Given the description of an element on the screen output the (x, y) to click on. 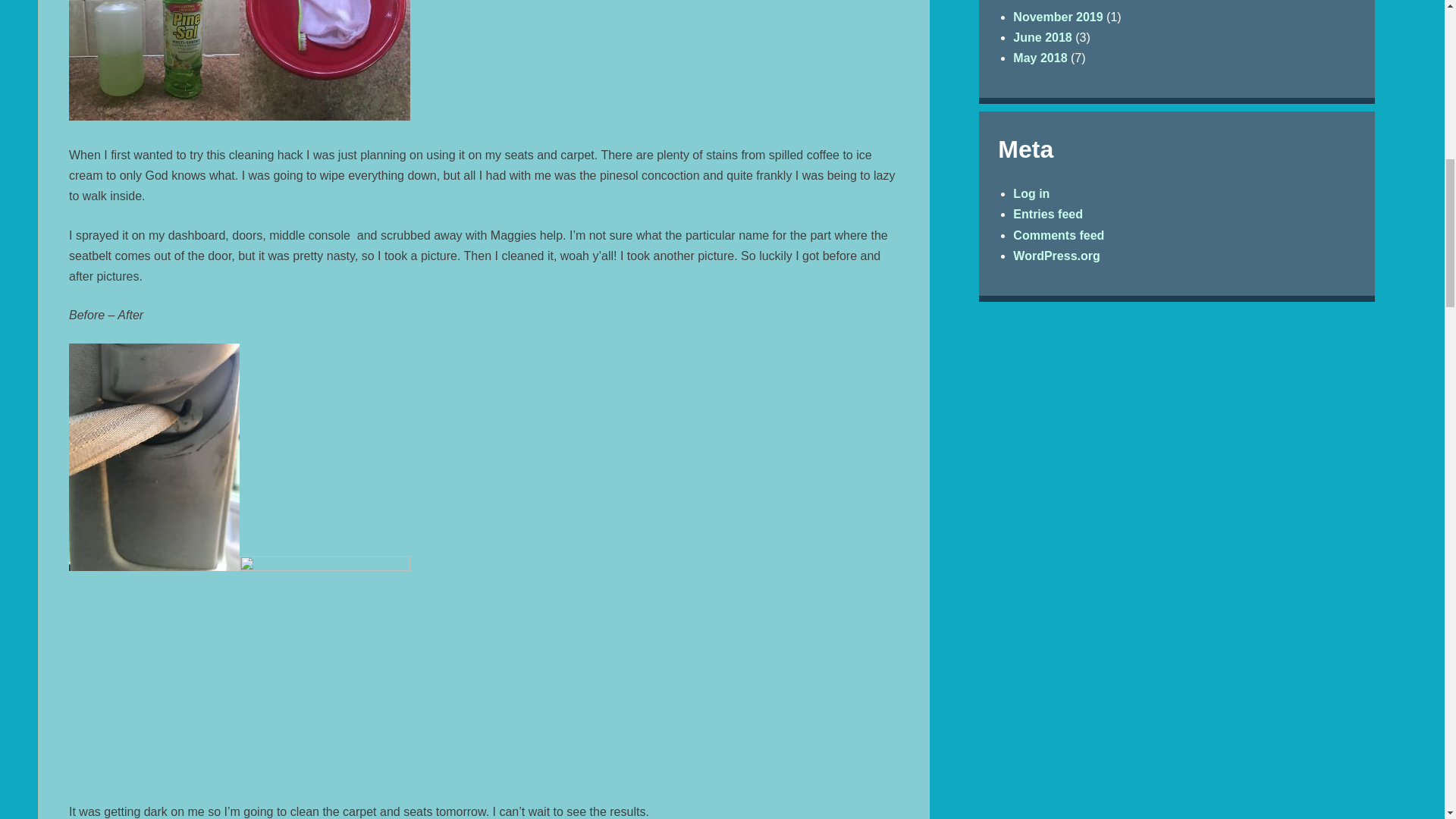
May 2018 (1040, 57)
Entries feed (1048, 214)
November 2019 (1057, 16)
Comments feed (1058, 235)
June 2018 (1042, 37)
WordPress.org (1056, 255)
Log in (1031, 193)
